Given the description of an element on the screen output the (x, y) to click on. 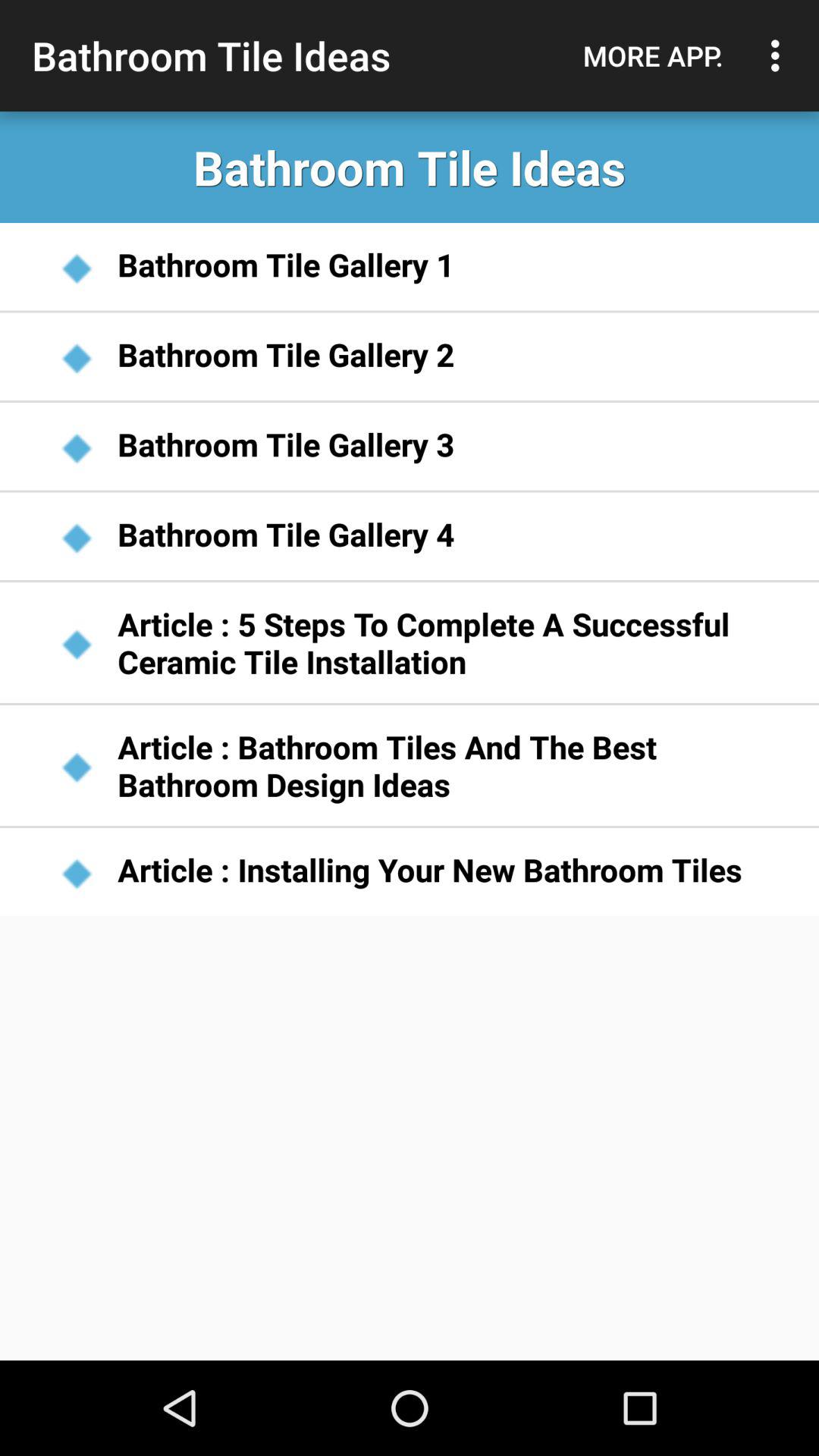
select item to the right of the more app. item (779, 55)
